Given the description of an element on the screen output the (x, y) to click on. 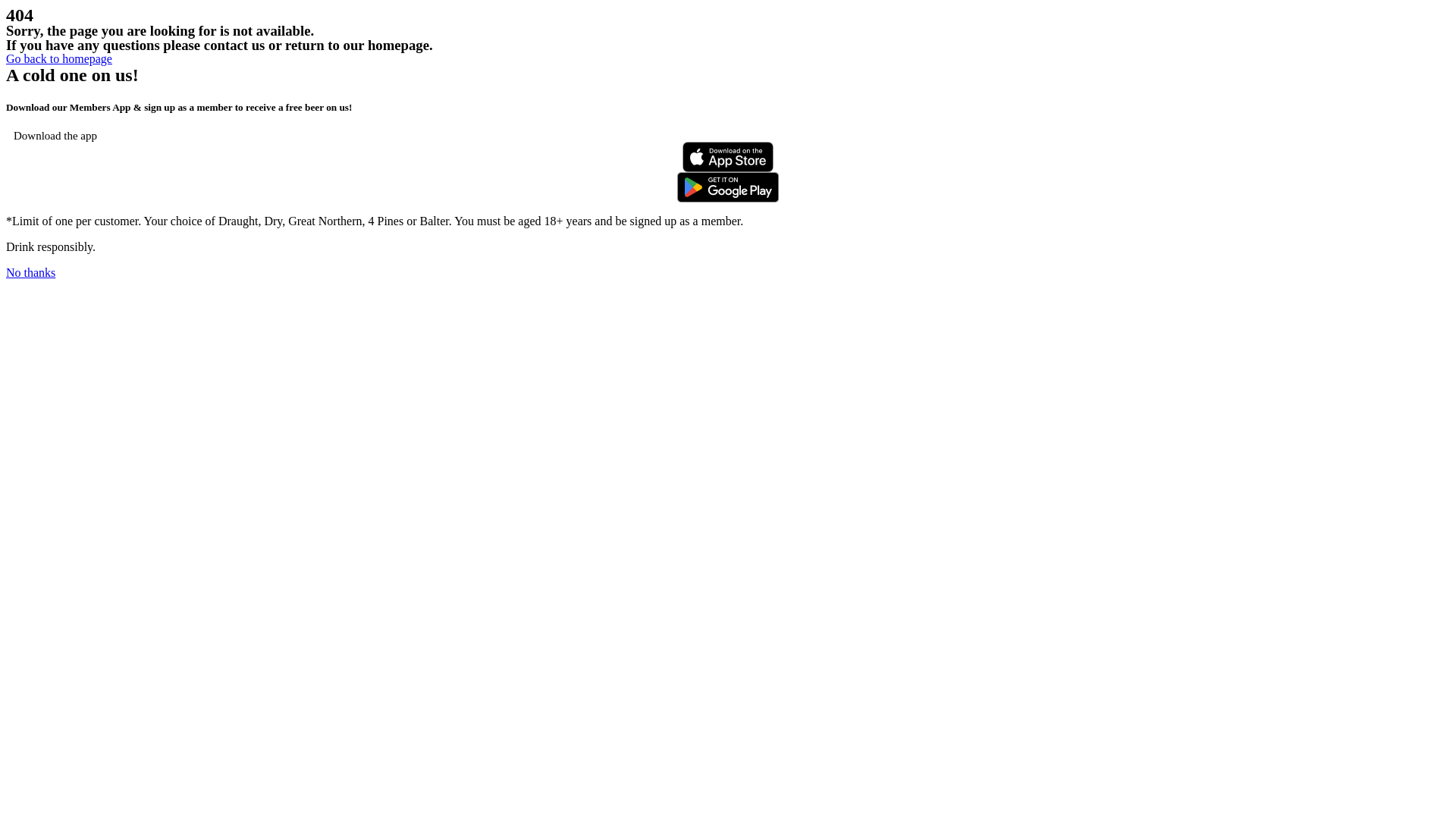
App Store Element type: hover (727, 156)
Go back to homepage Element type: text (59, 58)
Google Play Element type: hover (727, 187)
No thanks Element type: text (30, 272)
